Given the description of an element on the screen output the (x, y) to click on. 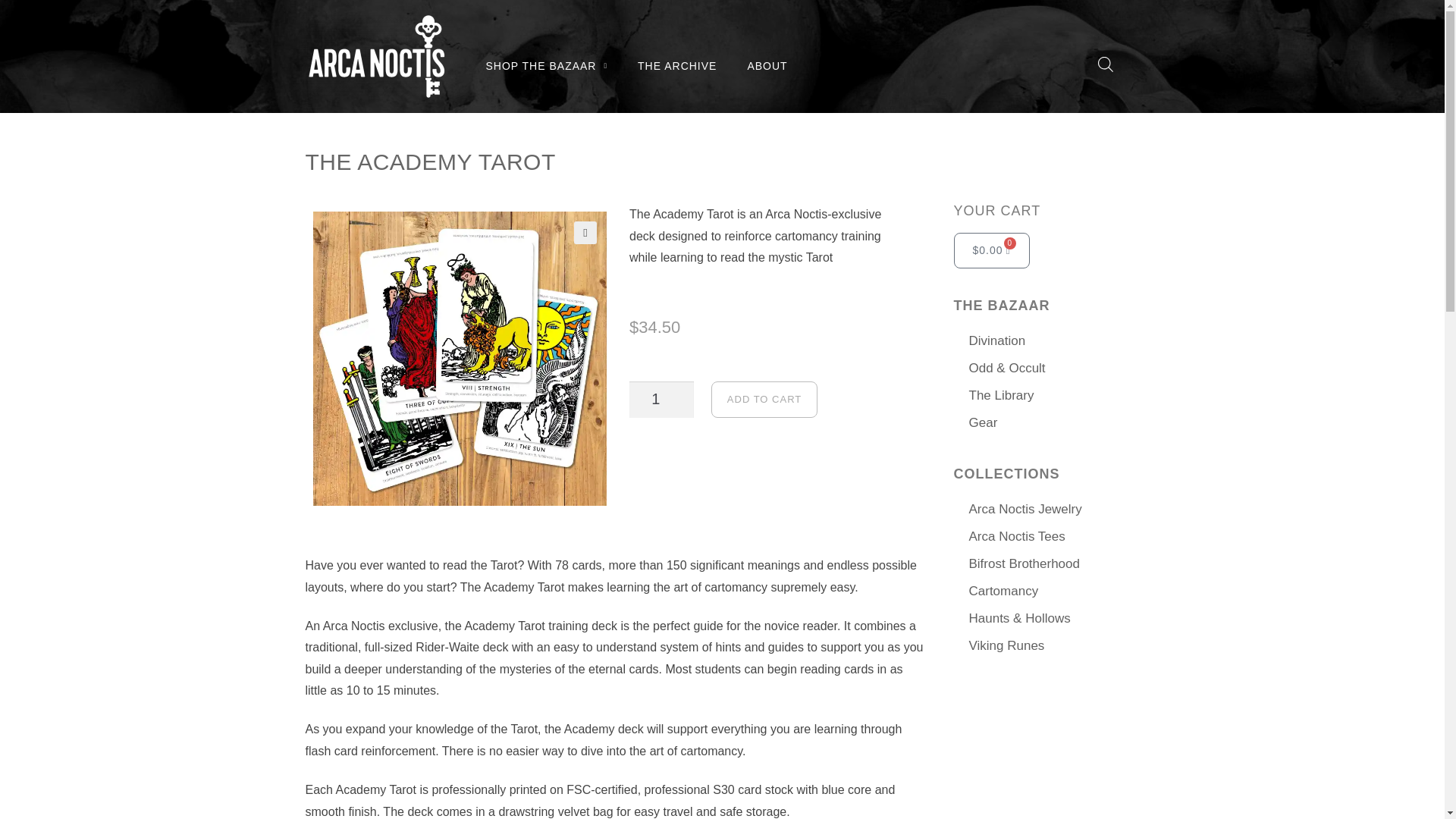
Arca Noctis (375, 56)
SHOP THE BAZAAR (546, 65)
The Academy Tarot (460, 358)
ADD TO CART (763, 399)
1 (661, 399)
ABOUT (767, 65)
THE ARCHIVE (677, 65)
